Given the description of an element on the screen output the (x, y) to click on. 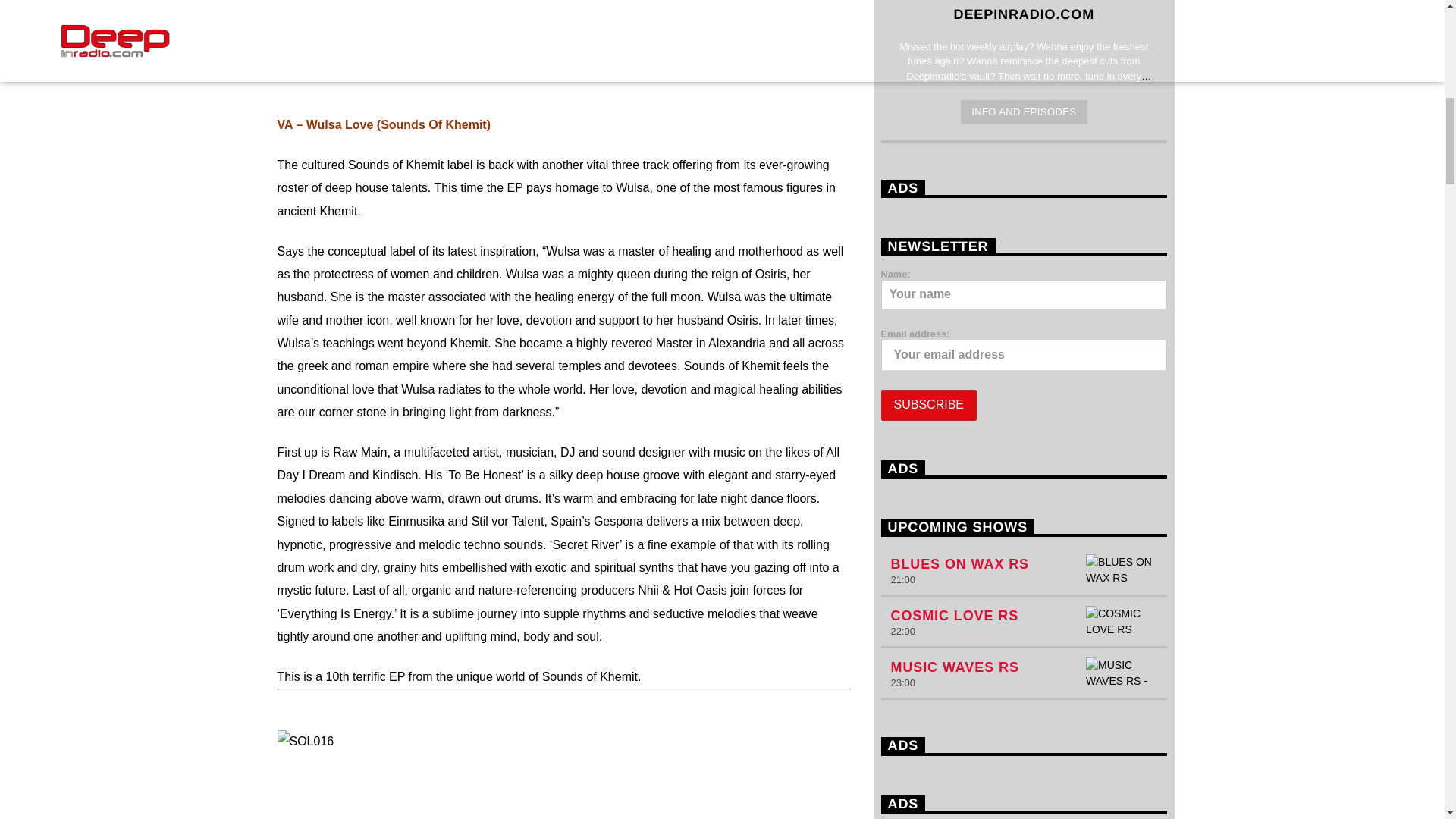
Subscribe (928, 404)
